Given the description of an element on the screen output the (x, y) to click on. 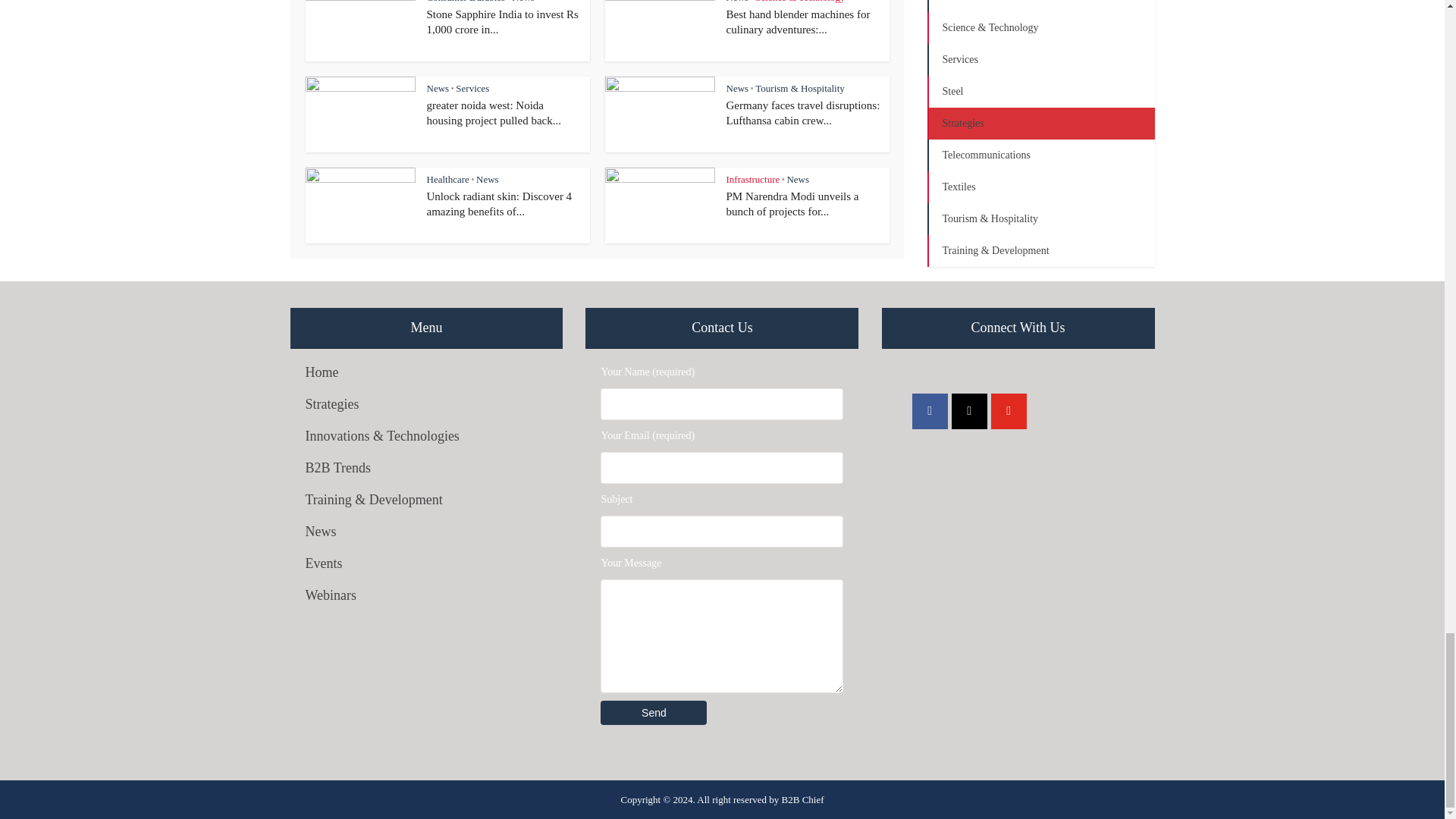
YouTube (1008, 411)
Instagram (969, 411)
Send (652, 712)
Facebook (929, 411)
